Given the description of an element on the screen output the (x, y) to click on. 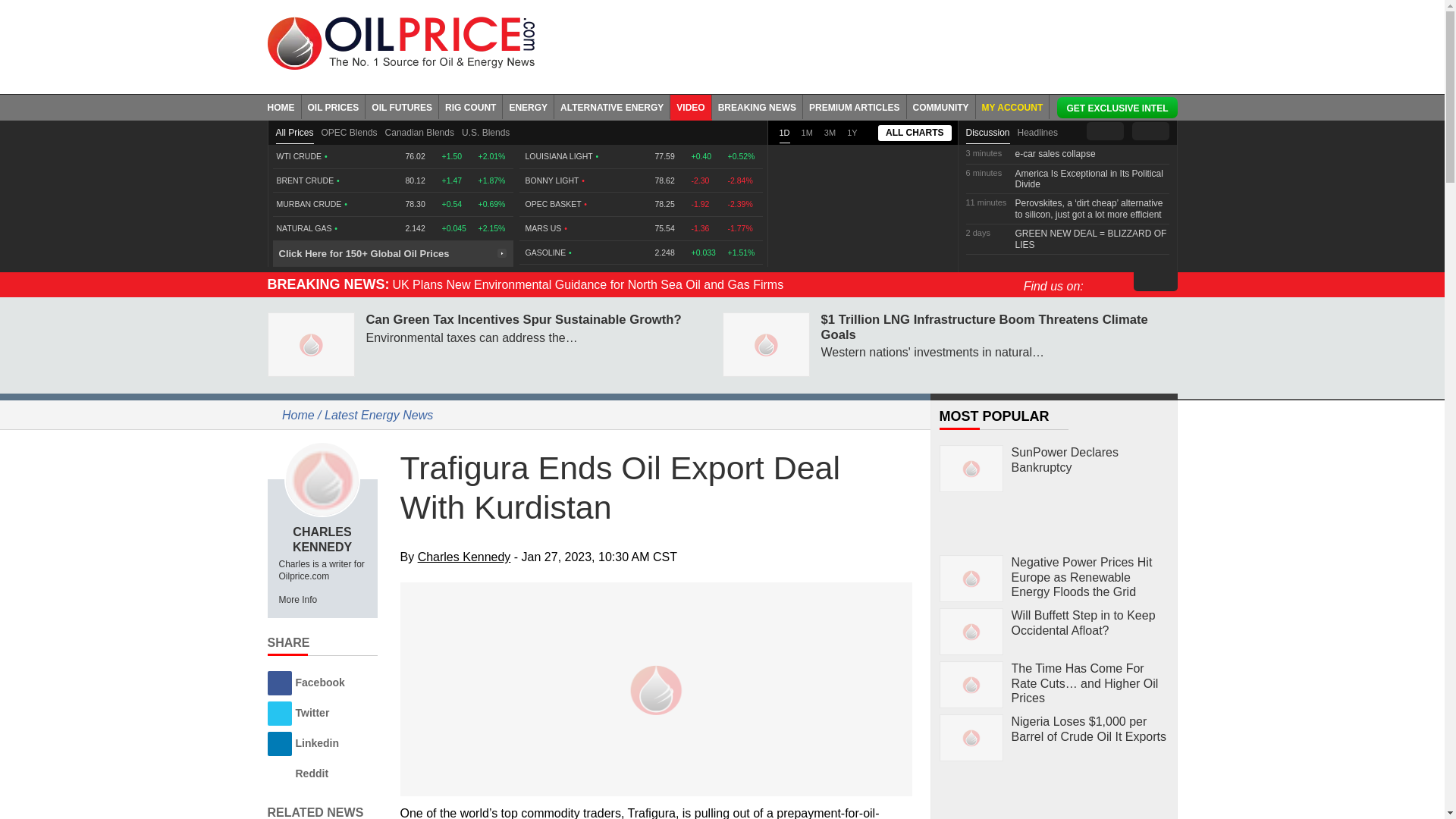
Charles Kennedy (321, 478)
COMMUNITY (941, 106)
BREAKING NEWS (757, 106)
OIL PRICES (333, 106)
OIL FUTURES (402, 106)
Oil prices - Oilprice.com (400, 42)
ENERGY (528, 106)
RIG COUNT (470, 106)
HOME (283, 106)
ALTERNATIVE ENERGY (611, 106)
